Given the description of an element on the screen output the (x, y) to click on. 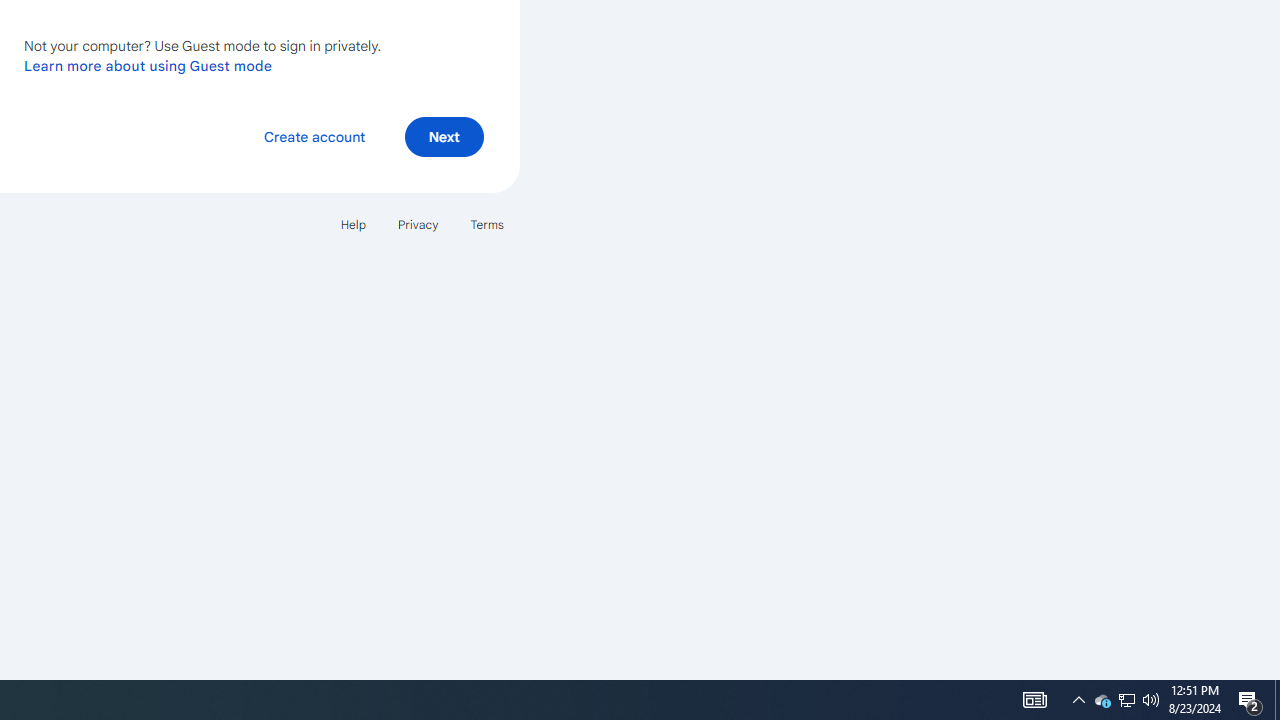
Learn more about using Guest mode (148, 65)
Next (443, 135)
Create account (314, 135)
